Given the description of an element on the screen output the (x, y) to click on. 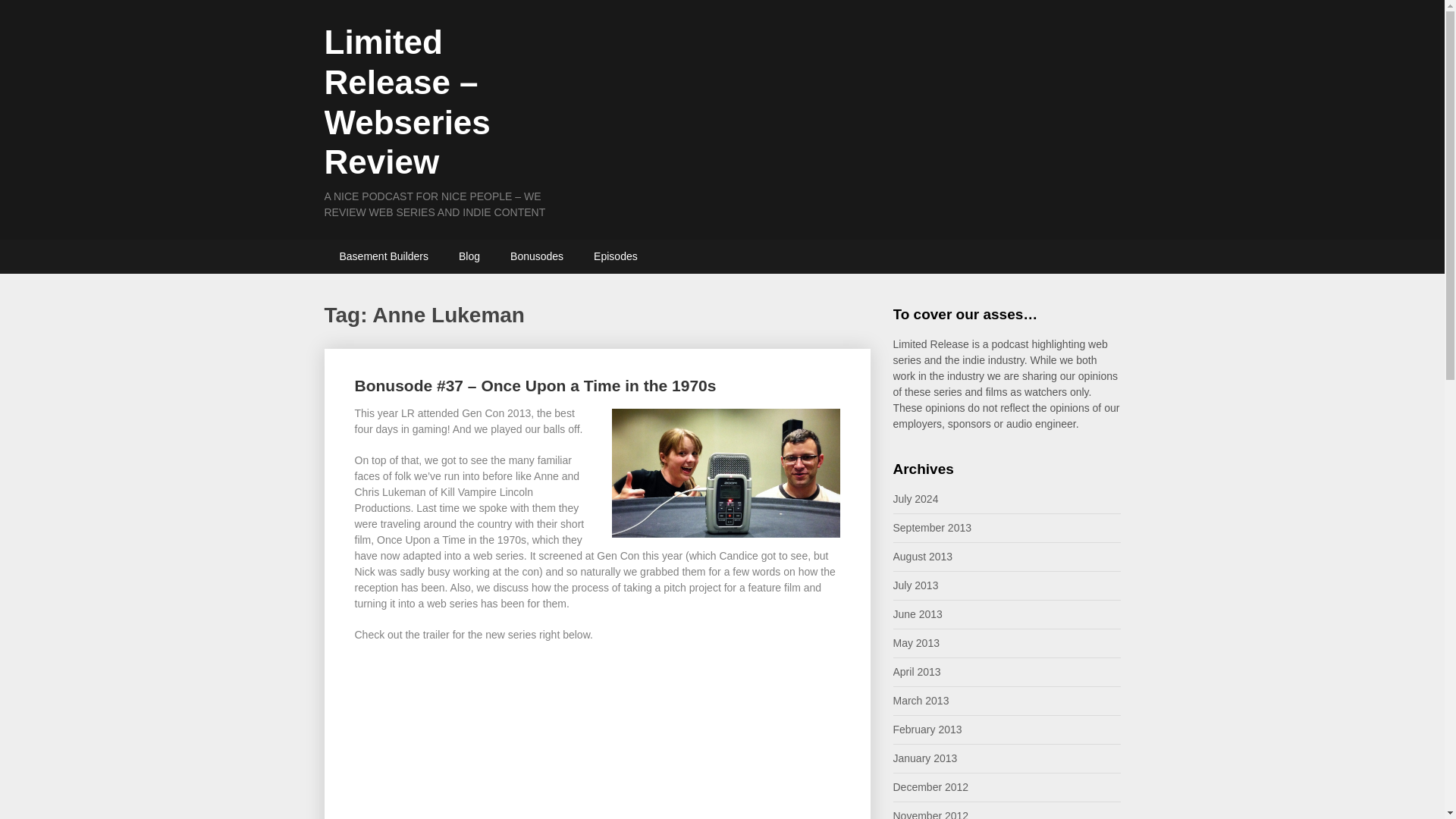
April 2013 (916, 671)
December 2012 (931, 787)
November 2012 (931, 814)
September 2013 (932, 527)
Episodes (615, 256)
Bonusodes (536, 256)
Basement Builders (384, 256)
July 2024 (916, 499)
Blog (469, 256)
July 2013 (916, 585)
February 2013 (927, 729)
March 2013 (921, 700)
August 2013 (923, 556)
Chris and Anne Lukeman giving the thumbs up (725, 472)
May 2013 (916, 643)
